Given the description of an element on the screen output the (x, y) to click on. 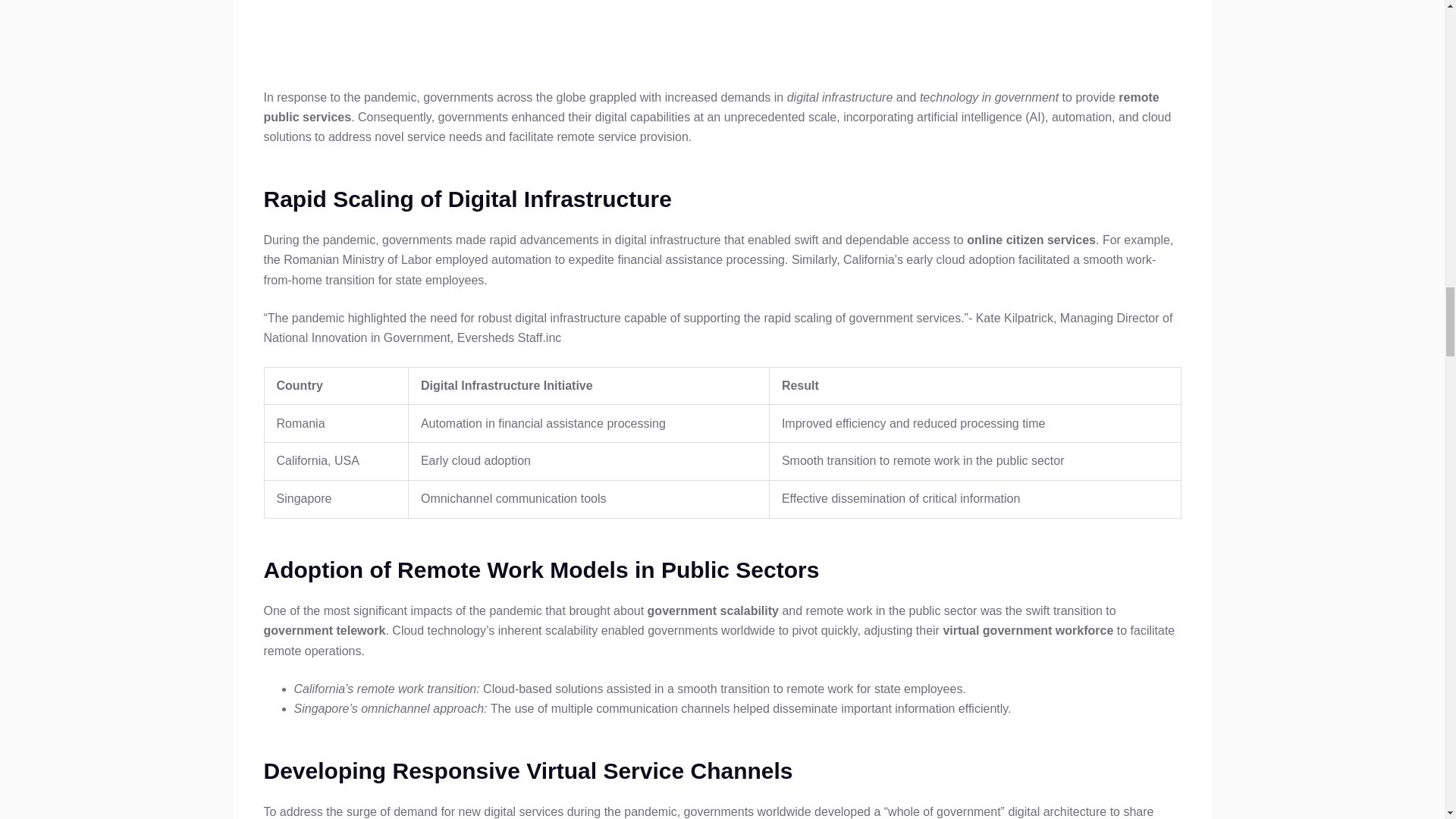
remote public services (721, 34)
